Given the description of an element on the screen output the (x, y) to click on. 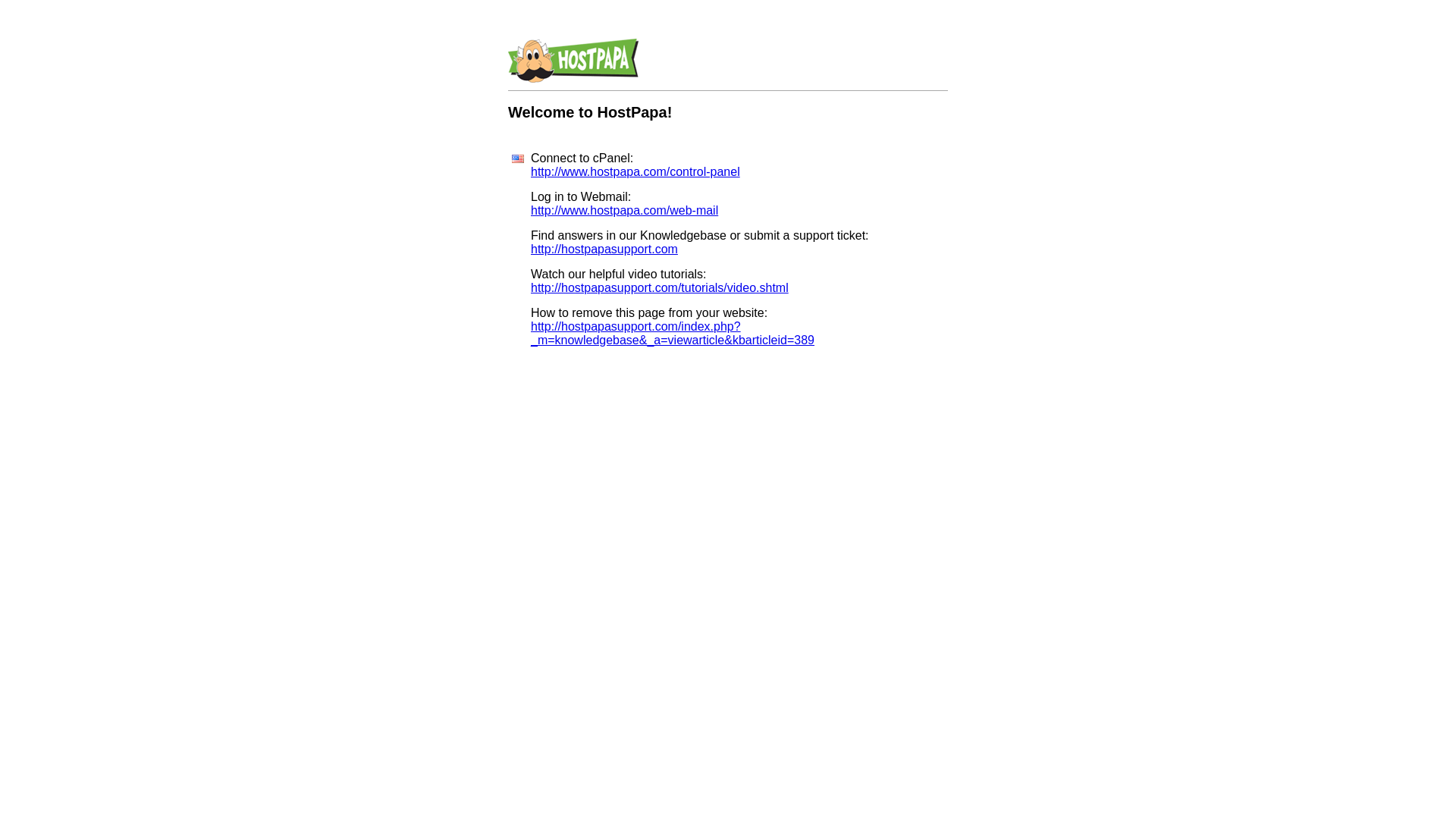
http://hostpapasupport.com/tutorials/video.shtml Element type: text (659, 287)
http://www.hostpapa.com/control-panel Element type: text (635, 171)
http://www.hostpapa.com/web-mail Element type: text (624, 209)
http://hostpapasupport.com Element type: text (603, 248)
